Given the description of an element on the screen output the (x, y) to click on. 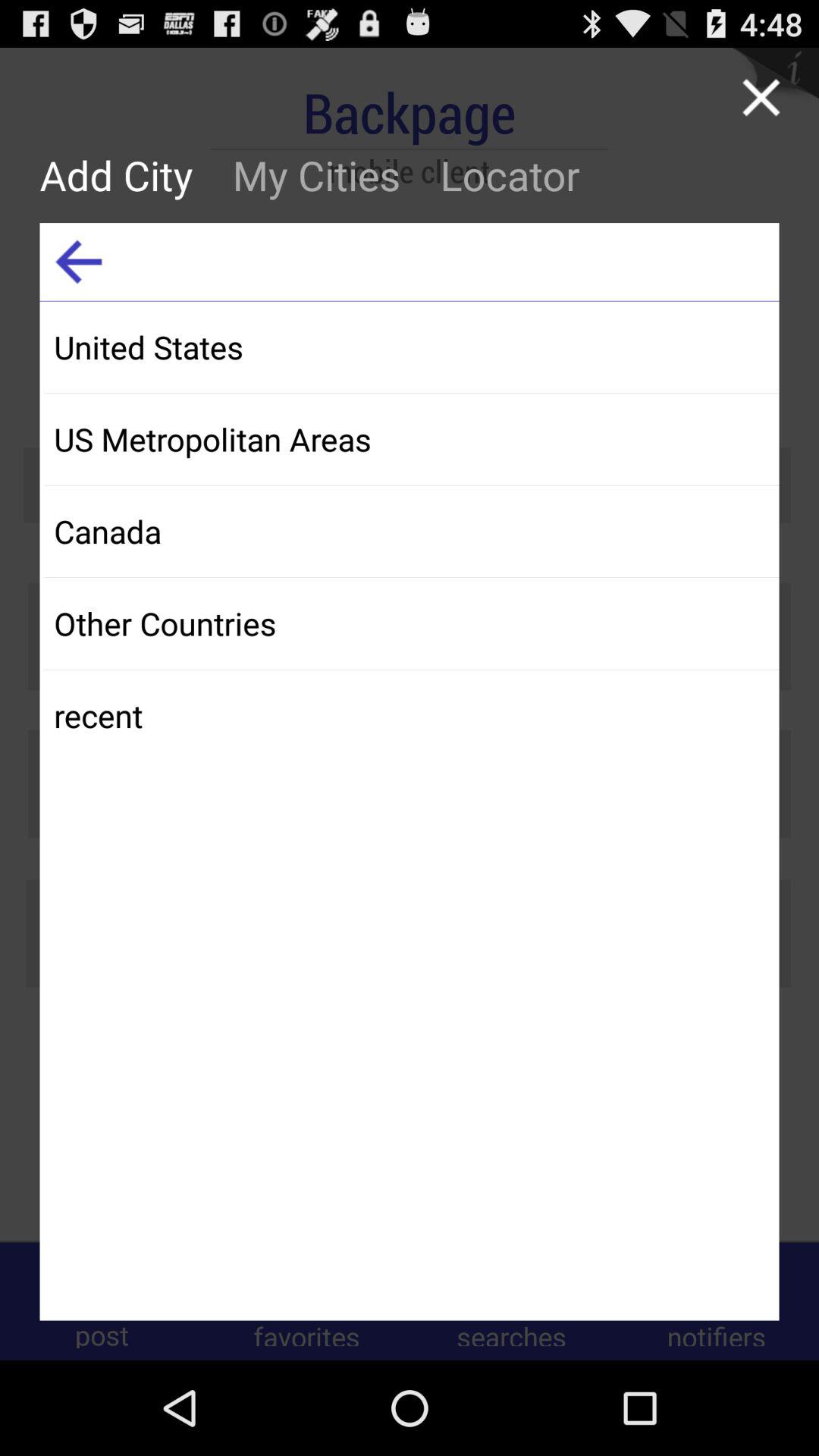
open the add city icon (125, 174)
